Given the description of an element on the screen output the (x, y) to click on. 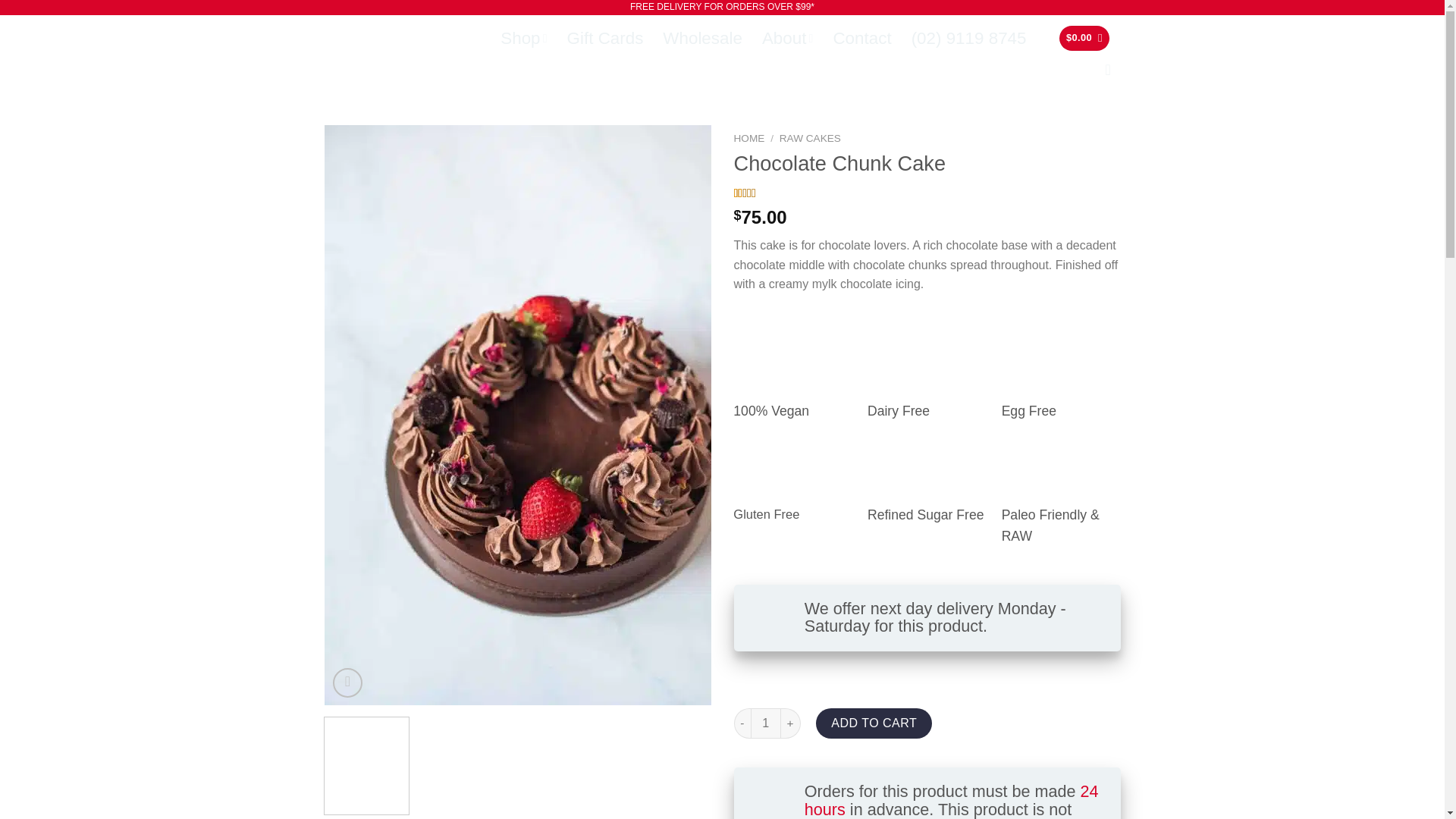
ADD TO CART (873, 723)
1 (765, 723)
Zoom (347, 682)
HOME (749, 138)
Wholesale (702, 37)
Gift Cards (605, 37)
RAW CAKES (809, 138)
Shop (523, 38)
Contact (861, 37)
About (787, 38)
Cart (1084, 37)
